Given the description of an element on the screen output the (x, y) to click on. 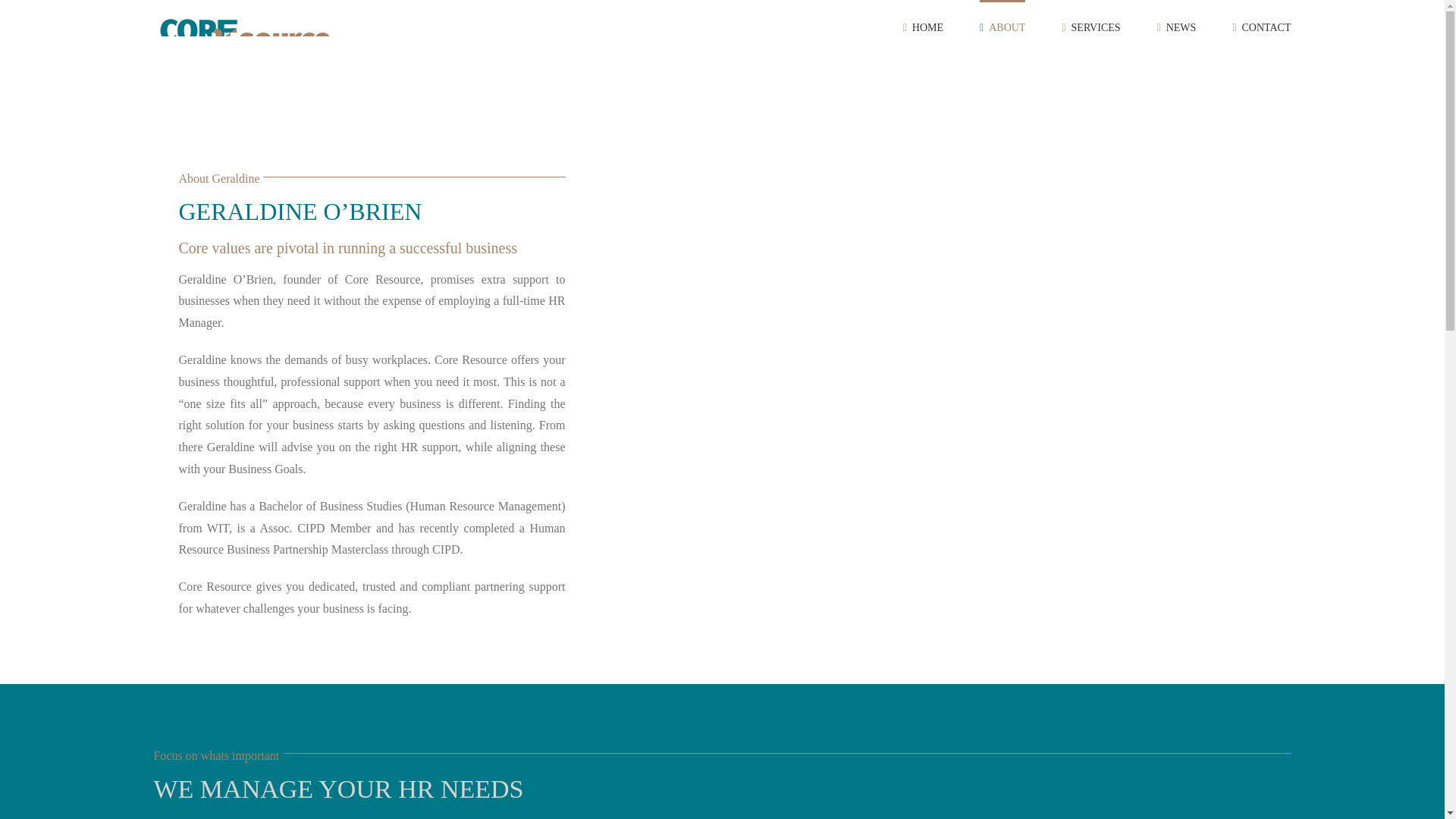
SERVICES (1090, 26)
CONTACT (1260, 26)
